Given the description of an element on the screen output the (x, y) to click on. 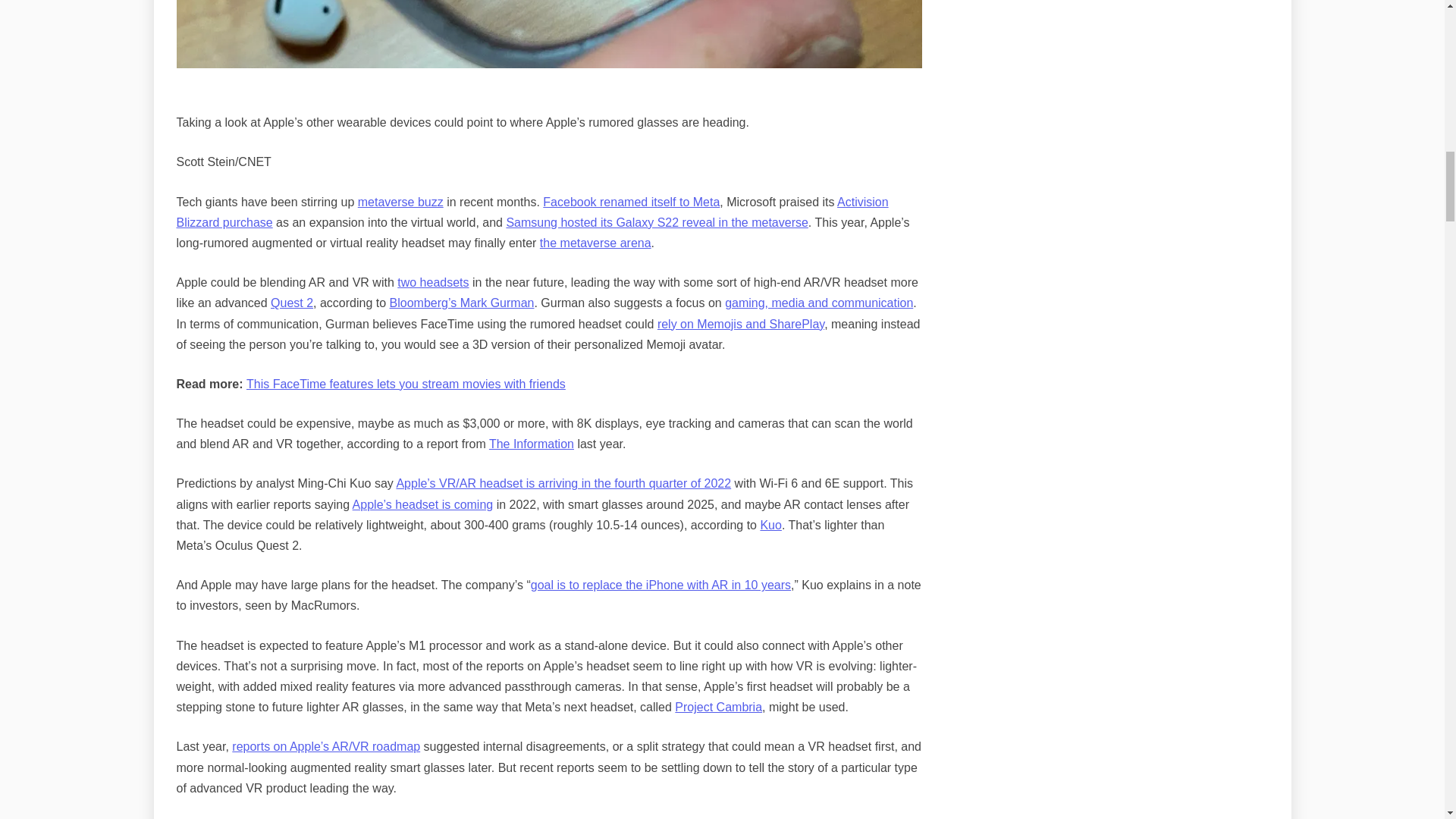
Samsung hosted its Galaxy S22 reveal in the metaverse (656, 222)
Facebook renamed itself to Meta (631, 201)
rely on Memojis and SharePlay (741, 323)
the metaverse arena (595, 242)
Quest 2 (291, 302)
Activision Blizzard purchase (532, 212)
This FaceTime features lets you stream movies with friends (406, 383)
metaverse buzz (401, 201)
gaming, media and communication (818, 302)
two headsets (432, 282)
